Given the description of an element on the screen output the (x, y) to click on. 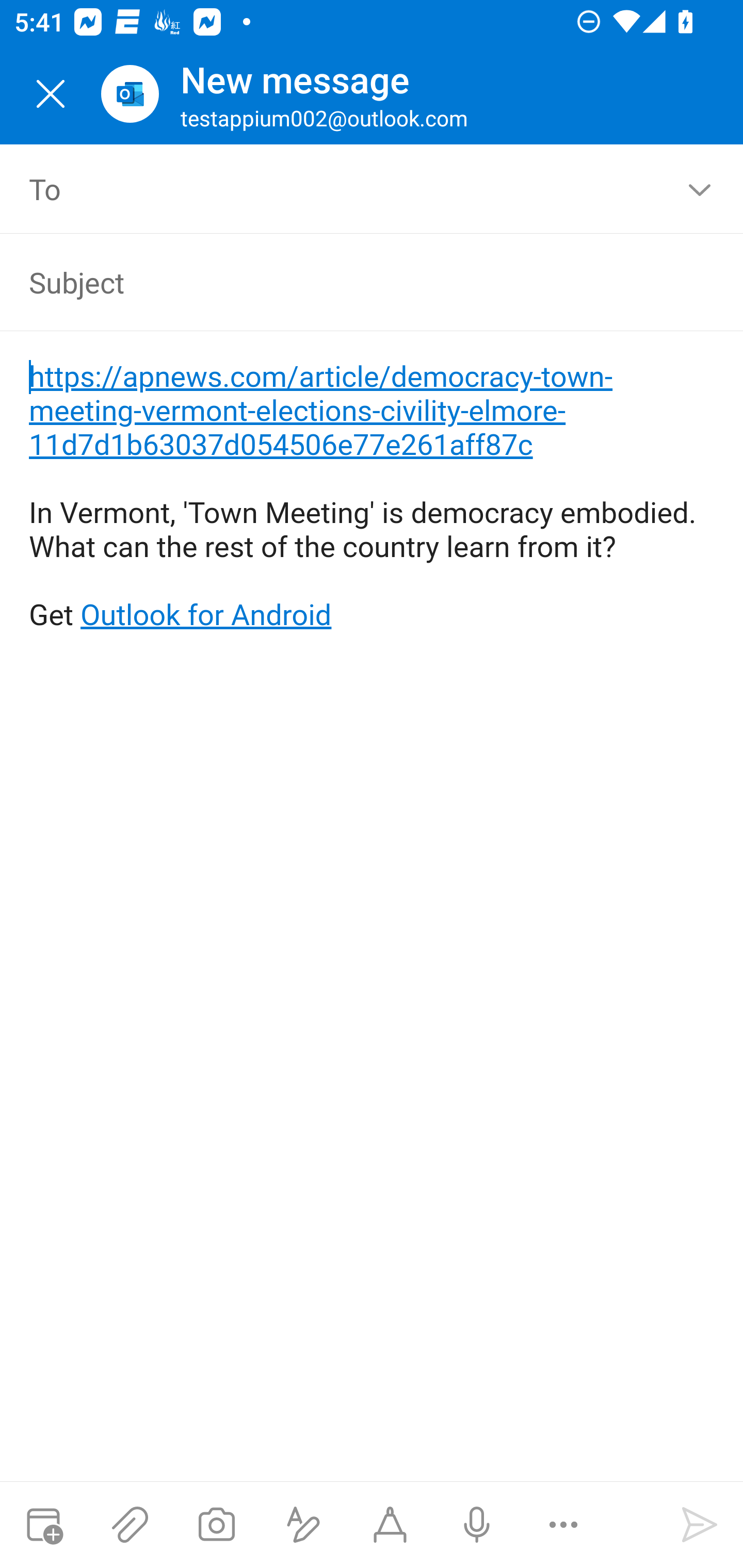
Close (50, 93)
Subject (342, 281)
Attach meeting (43, 1524)
Attach files (129, 1524)
Take a photo (216, 1524)
Show formatting options (303, 1524)
Start Ink compose (389, 1524)
Dictation (476, 1524)
More options (563, 1524)
Send (699, 1524)
